Given the description of an element on the screen output the (x, y) to click on. 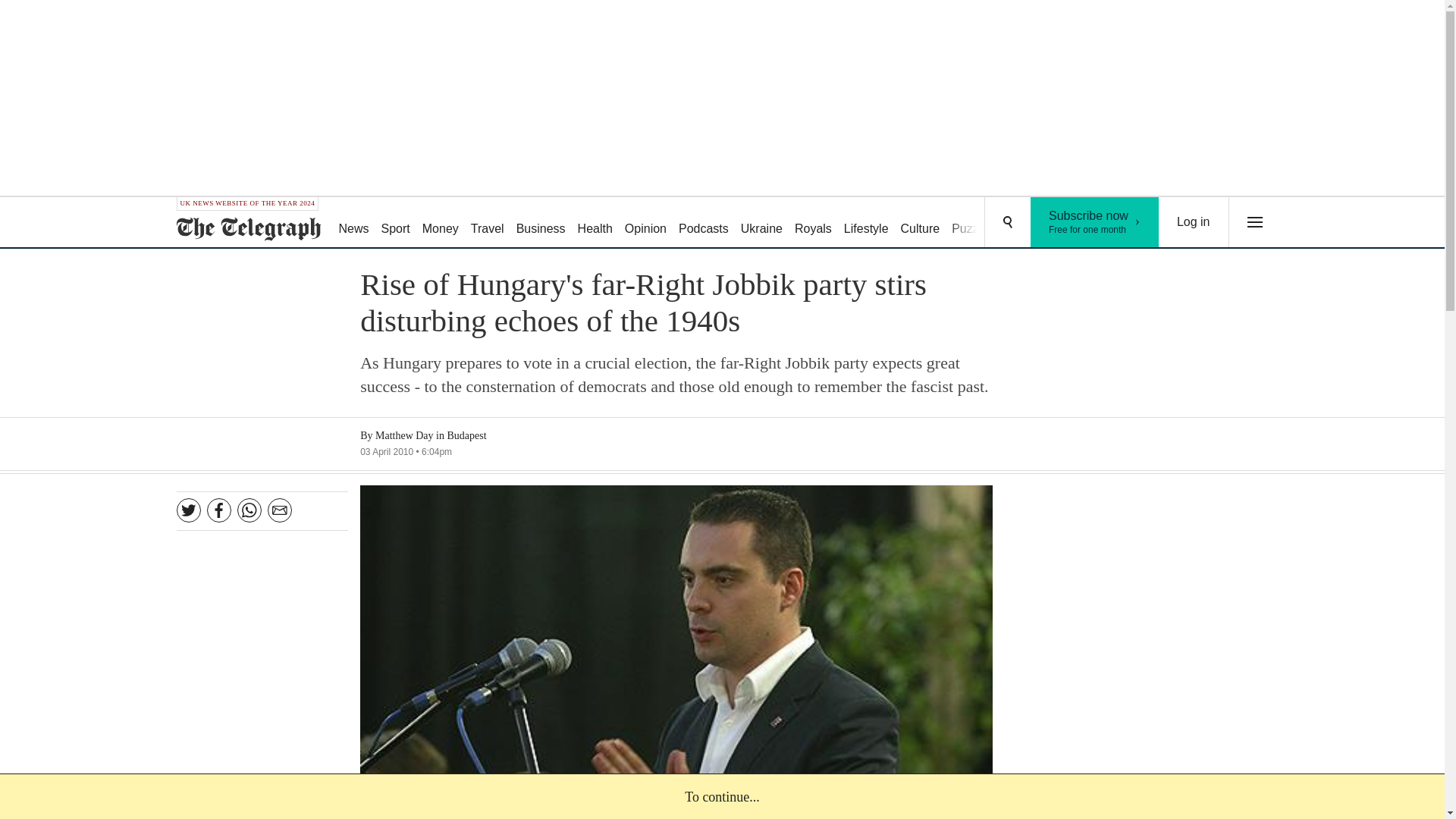
Sport (395, 223)
Podcasts (703, 223)
Culture (920, 223)
Opinion (645, 223)
Health (595, 223)
Puzzles (972, 223)
Ukraine (762, 223)
Royals (1094, 222)
Log in (813, 223)
Travel (1193, 222)
Money (487, 223)
Business (440, 223)
News (541, 223)
Lifestyle (352, 223)
